Given the description of an element on the screen output the (x, y) to click on. 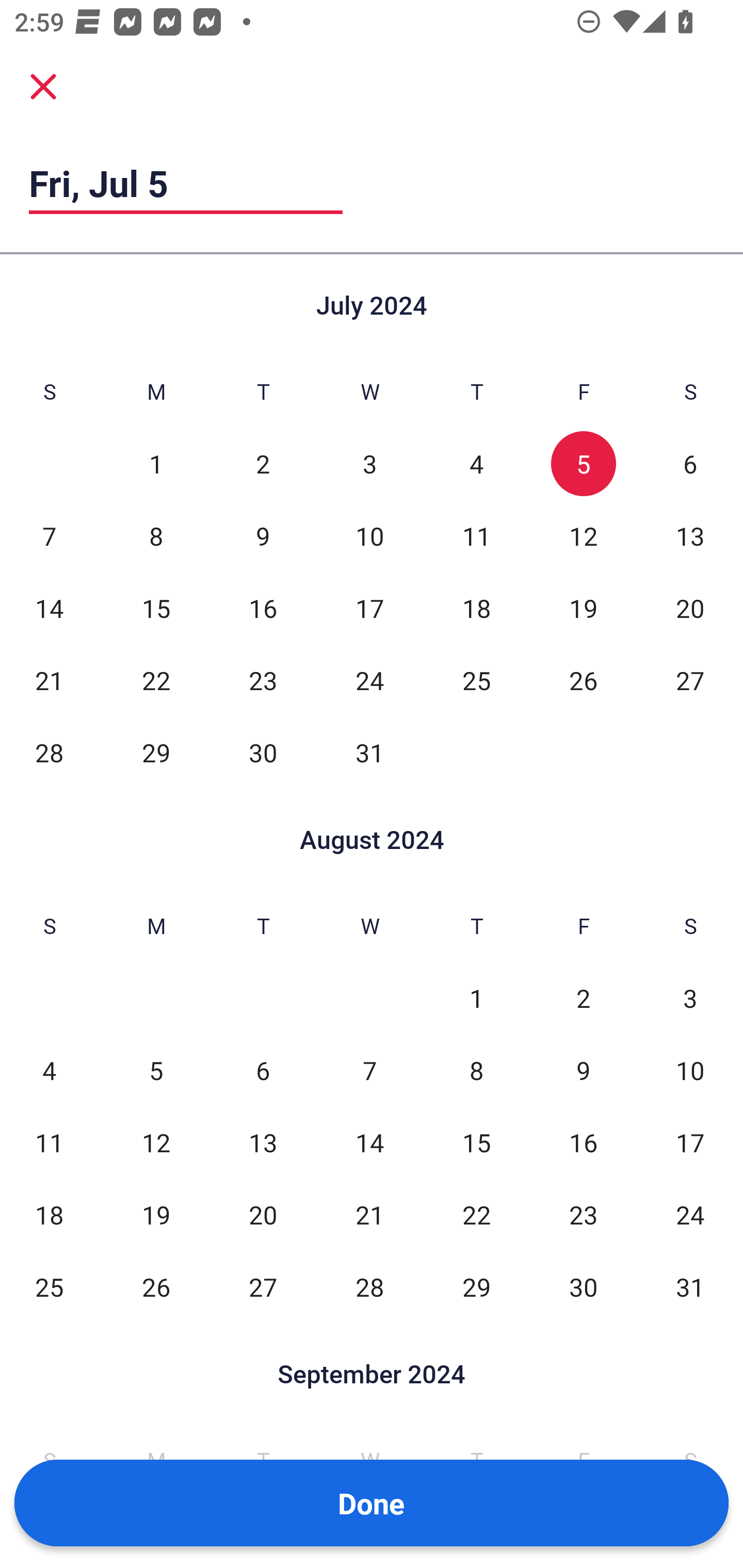
Cancel (43, 86)
Fri, Jul 5 (185, 182)
1 Mon, Jul 1, Not Selected (156, 464)
2 Tue, Jul 2, Not Selected (263, 464)
3 Wed, Jul 3, Not Selected (369, 464)
4 Thu, Jul 4, Not Selected (476, 464)
5 Fri, Jul 5, Selected (583, 464)
6 Sat, Jul 6, Not Selected (690, 464)
7 Sun, Jul 7, Not Selected (49, 536)
8 Mon, Jul 8, Not Selected (156, 536)
9 Tue, Jul 9, Not Selected (263, 536)
10 Wed, Jul 10, Not Selected (369, 536)
11 Thu, Jul 11, Not Selected (476, 536)
12 Fri, Jul 12, Not Selected (583, 536)
13 Sat, Jul 13, Not Selected (690, 536)
14 Sun, Jul 14, Not Selected (49, 608)
15 Mon, Jul 15, Not Selected (156, 608)
16 Tue, Jul 16, Not Selected (263, 608)
17 Wed, Jul 17, Not Selected (369, 608)
18 Thu, Jul 18, Not Selected (476, 608)
19 Fri, Jul 19, Not Selected (583, 608)
20 Sat, Jul 20, Not Selected (690, 608)
21 Sun, Jul 21, Not Selected (49, 680)
22 Mon, Jul 22, Not Selected (156, 680)
23 Tue, Jul 23, Not Selected (263, 680)
24 Wed, Jul 24, Not Selected (369, 680)
25 Thu, Jul 25, Not Selected (476, 680)
26 Fri, Jul 26, Not Selected (583, 680)
27 Sat, Jul 27, Not Selected (690, 680)
28 Sun, Jul 28, Not Selected (49, 752)
29 Mon, Jul 29, Not Selected (156, 752)
30 Tue, Jul 30, Not Selected (263, 752)
31 Wed, Jul 31, Not Selected (369, 752)
1 Thu, Aug 1, Not Selected (476, 997)
2 Fri, Aug 2, Not Selected (583, 997)
3 Sat, Aug 3, Not Selected (690, 997)
4 Sun, Aug 4, Not Selected (49, 1070)
5 Mon, Aug 5, Not Selected (156, 1070)
6 Tue, Aug 6, Not Selected (263, 1070)
7 Wed, Aug 7, Not Selected (369, 1070)
8 Thu, Aug 8, Not Selected (476, 1070)
9 Fri, Aug 9, Not Selected (583, 1070)
10 Sat, Aug 10, Not Selected (690, 1070)
11 Sun, Aug 11, Not Selected (49, 1143)
12 Mon, Aug 12, Not Selected (156, 1143)
13 Tue, Aug 13, Not Selected (263, 1143)
14 Wed, Aug 14, Not Selected (369, 1143)
15 Thu, Aug 15, Not Selected (476, 1143)
16 Fri, Aug 16, Not Selected (583, 1143)
17 Sat, Aug 17, Not Selected (690, 1143)
18 Sun, Aug 18, Not Selected (49, 1215)
19 Mon, Aug 19, Not Selected (156, 1215)
20 Tue, Aug 20, Not Selected (263, 1215)
21 Wed, Aug 21, Not Selected (369, 1215)
22 Thu, Aug 22, Not Selected (476, 1215)
23 Fri, Aug 23, Not Selected (583, 1215)
24 Sat, Aug 24, Not Selected (690, 1215)
25 Sun, Aug 25, Not Selected (49, 1287)
26 Mon, Aug 26, Not Selected (156, 1287)
27 Tue, Aug 27, Not Selected (263, 1287)
28 Wed, Aug 28, Not Selected (369, 1287)
29 Thu, Aug 29, Not Selected (476, 1287)
30 Fri, Aug 30, Not Selected (583, 1287)
31 Sat, Aug 31, Not Selected (690, 1287)
Done Button Done (371, 1502)
